Given the description of an element on the screen output the (x, y) to click on. 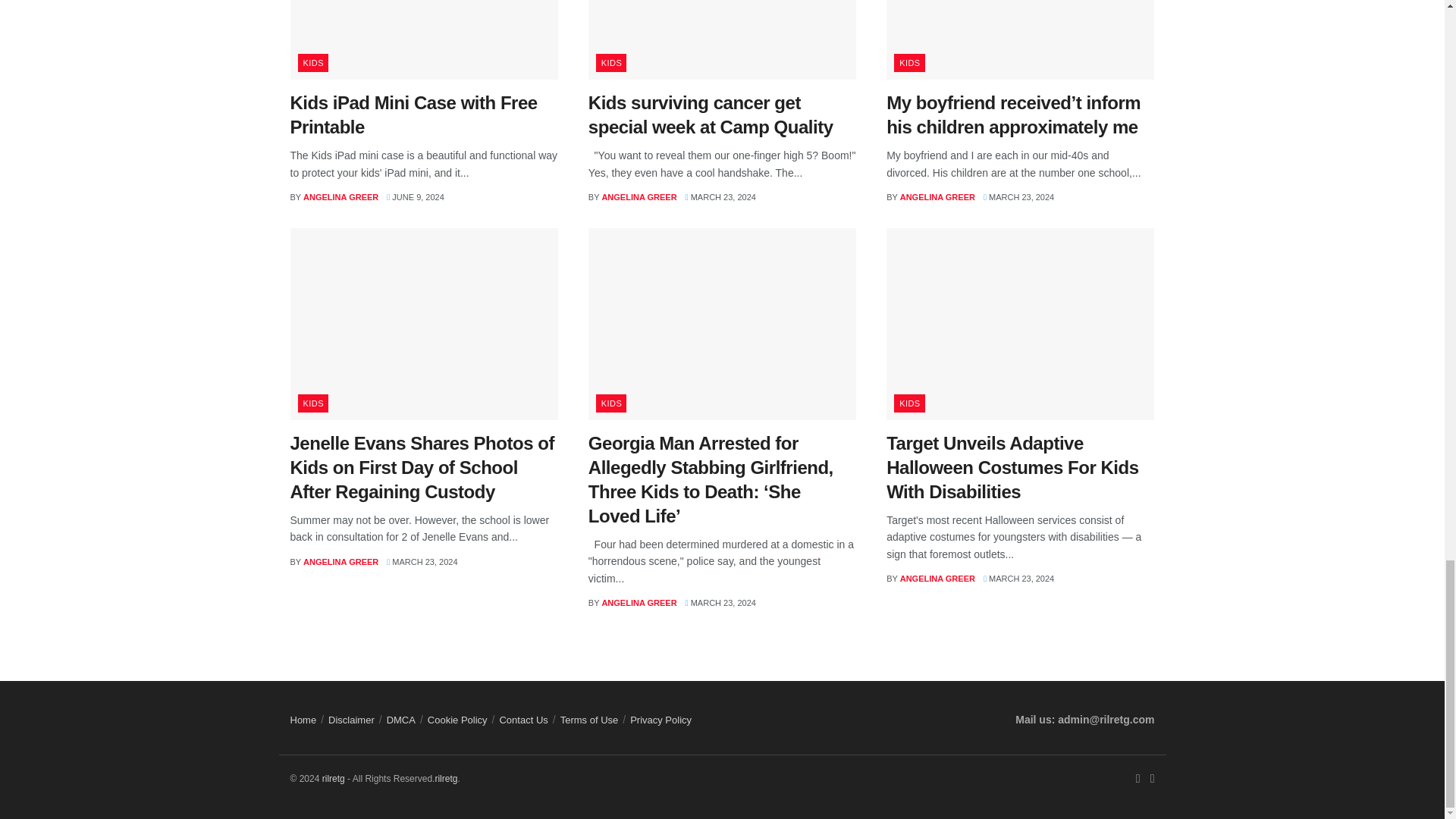
rilretg (445, 778)
